Given the description of an element on the screen output the (x, y) to click on. 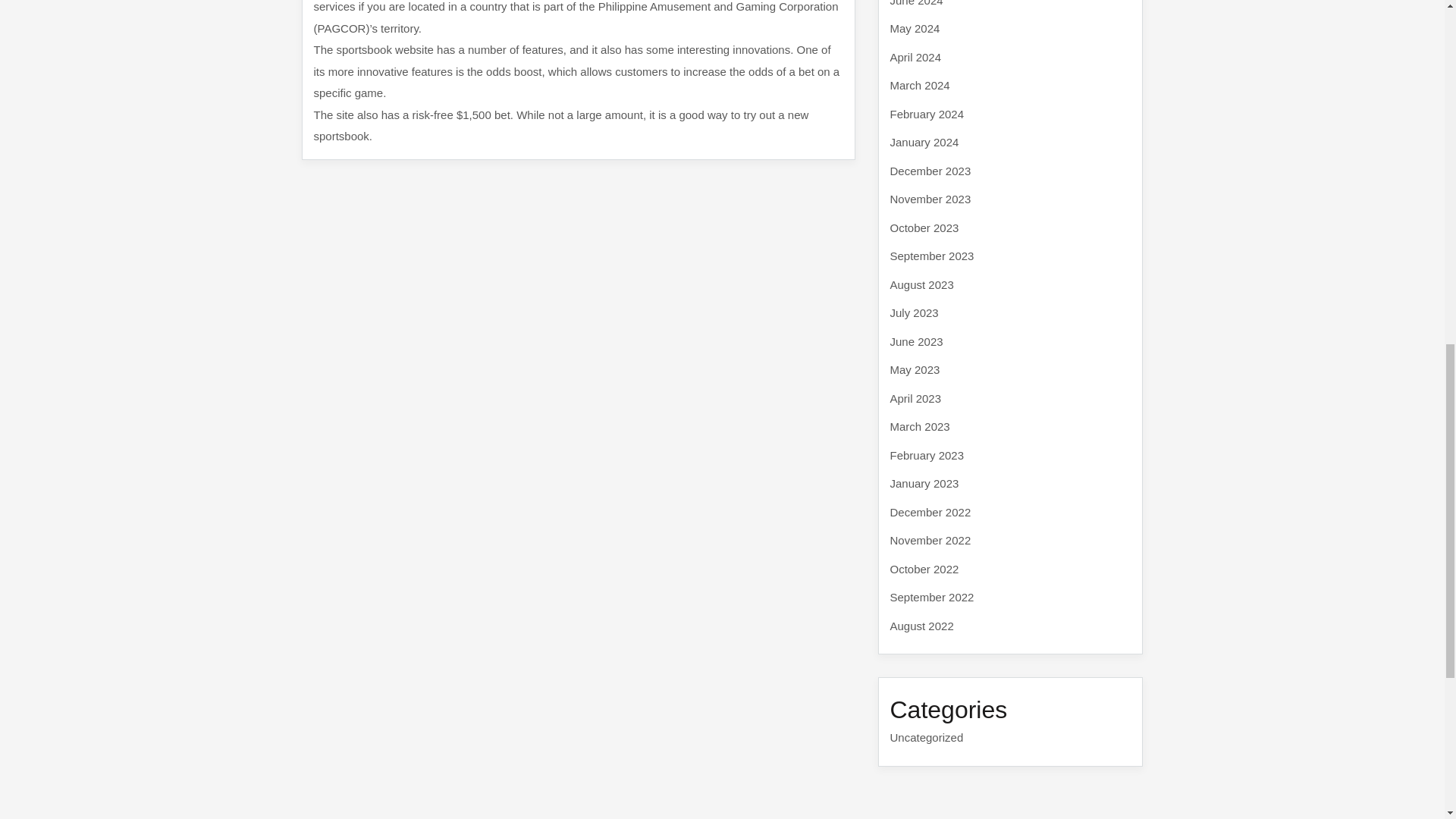
July 2023 (914, 312)
May 2024 (914, 28)
December 2022 (930, 511)
October 2023 (924, 227)
March 2024 (919, 84)
September 2023 (931, 255)
November 2023 (930, 198)
May 2023 (914, 369)
April 2023 (915, 397)
January 2024 (924, 141)
